Given the description of an element on the screen output the (x, y) to click on. 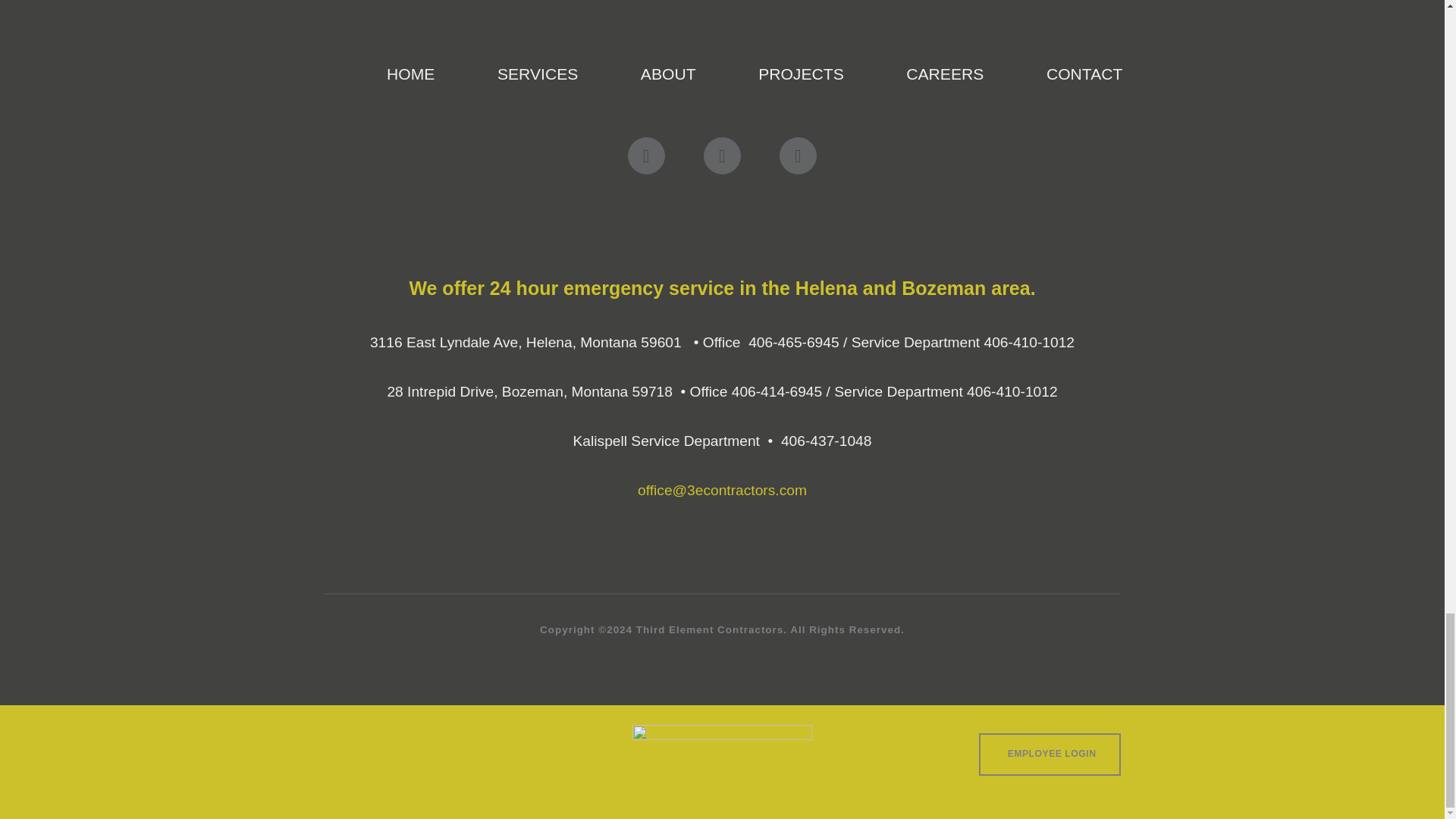
Follow on YouTube (797, 155)
PROJECTS (801, 73)
406-414-6945 (777, 391)
Follow on Facebook (646, 155)
406-465-6945 (794, 342)
ABOUT (667, 73)
CONTACT (1084, 73)
406-410-1012 (1029, 342)
406-410-1012 (1012, 391)
SERVICES (537, 73)
